Given the description of an element on the screen output the (x, y) to click on. 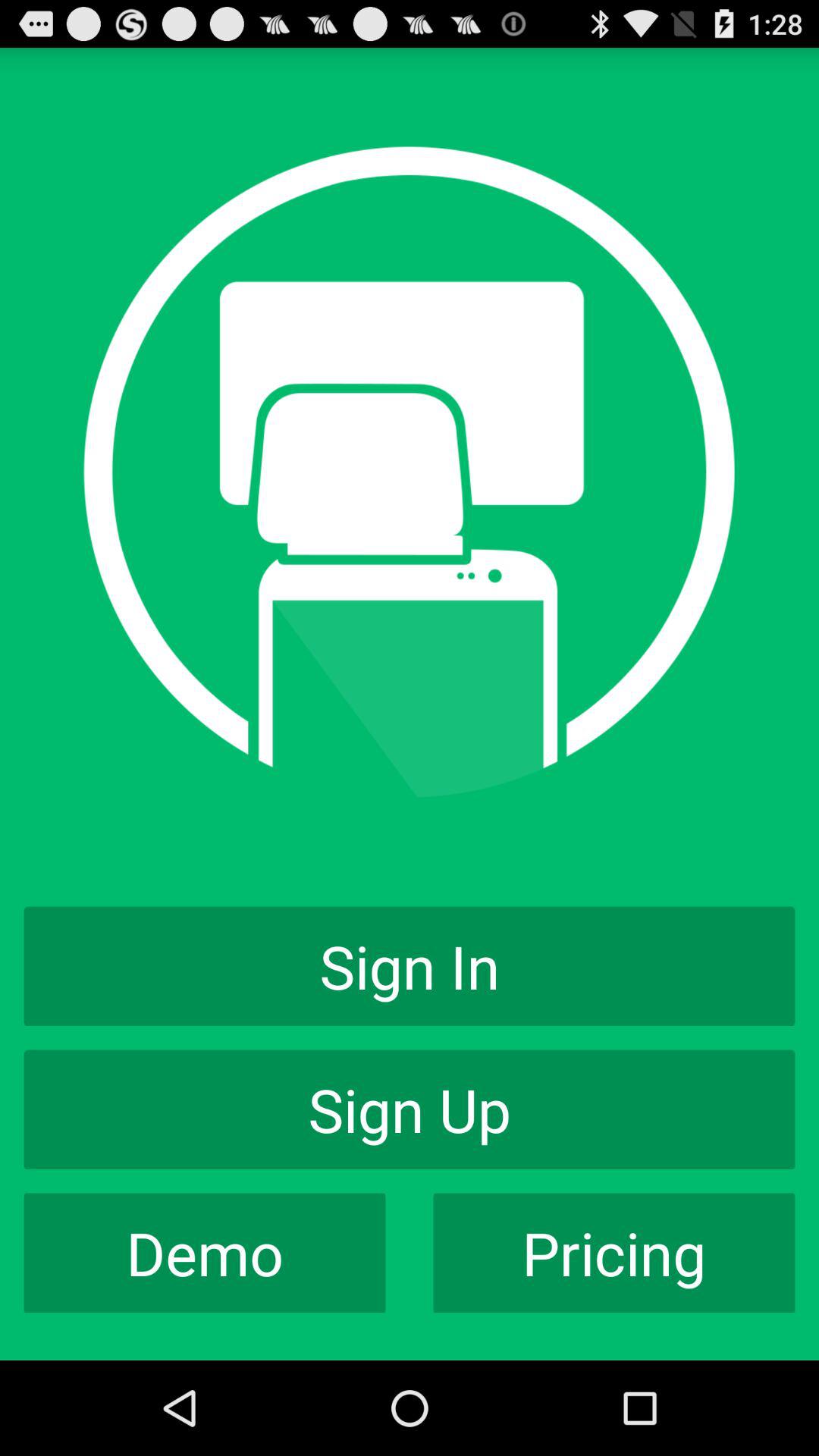
turn off icon at the bottom left corner (204, 1252)
